Given the description of an element on the screen output the (x, y) to click on. 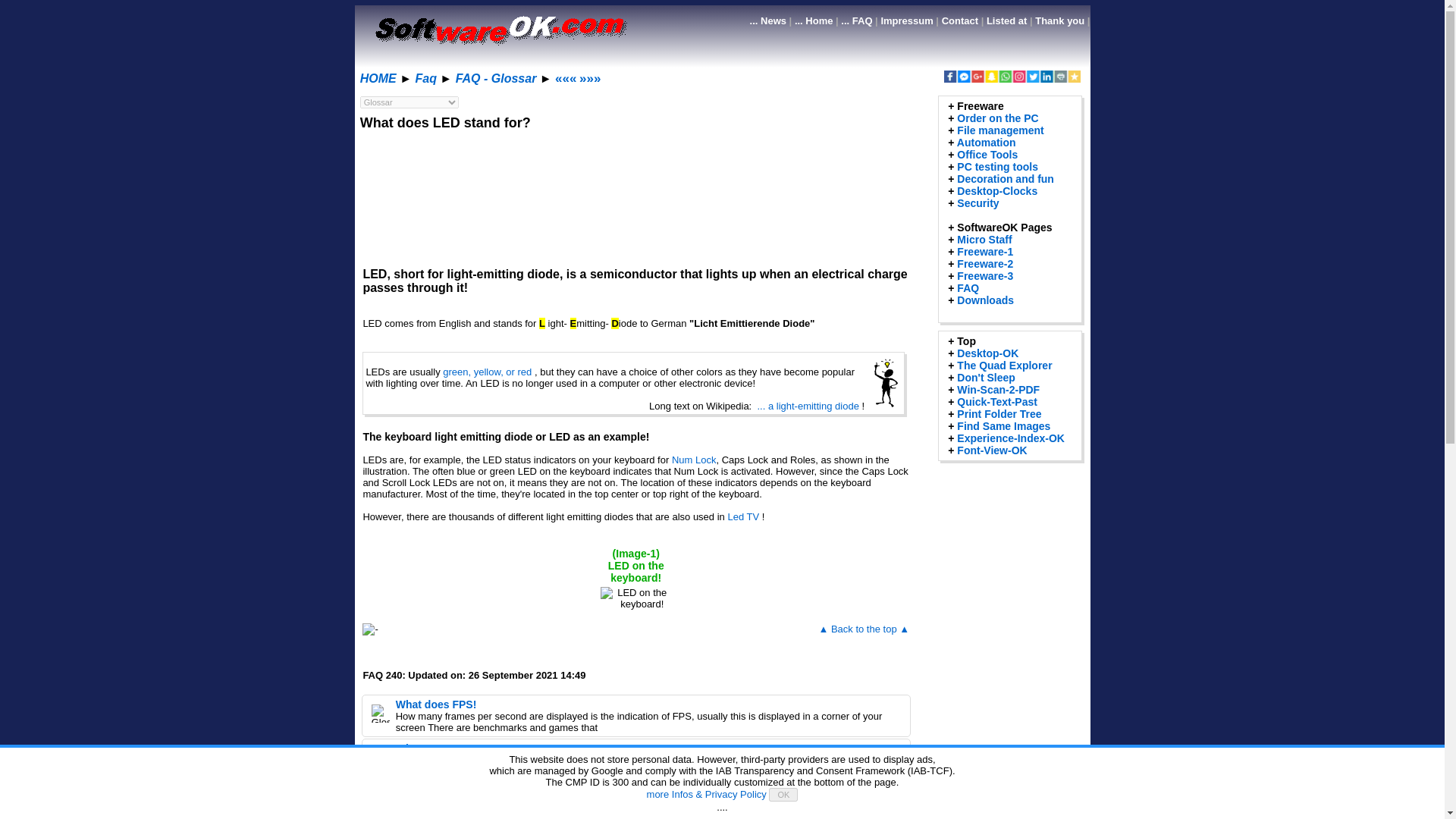
Num Lock (693, 460)
HOME (377, 78)
Listed at (1006, 20)
... FAQ (856, 20)
Impressum (906, 20)
File management (999, 130)
Order on the PC (997, 118)
green, yellow, or red (486, 371)
What are DPI? (431, 748)
Office Tools (986, 154)
